Given the description of an element on the screen output the (x, y) to click on. 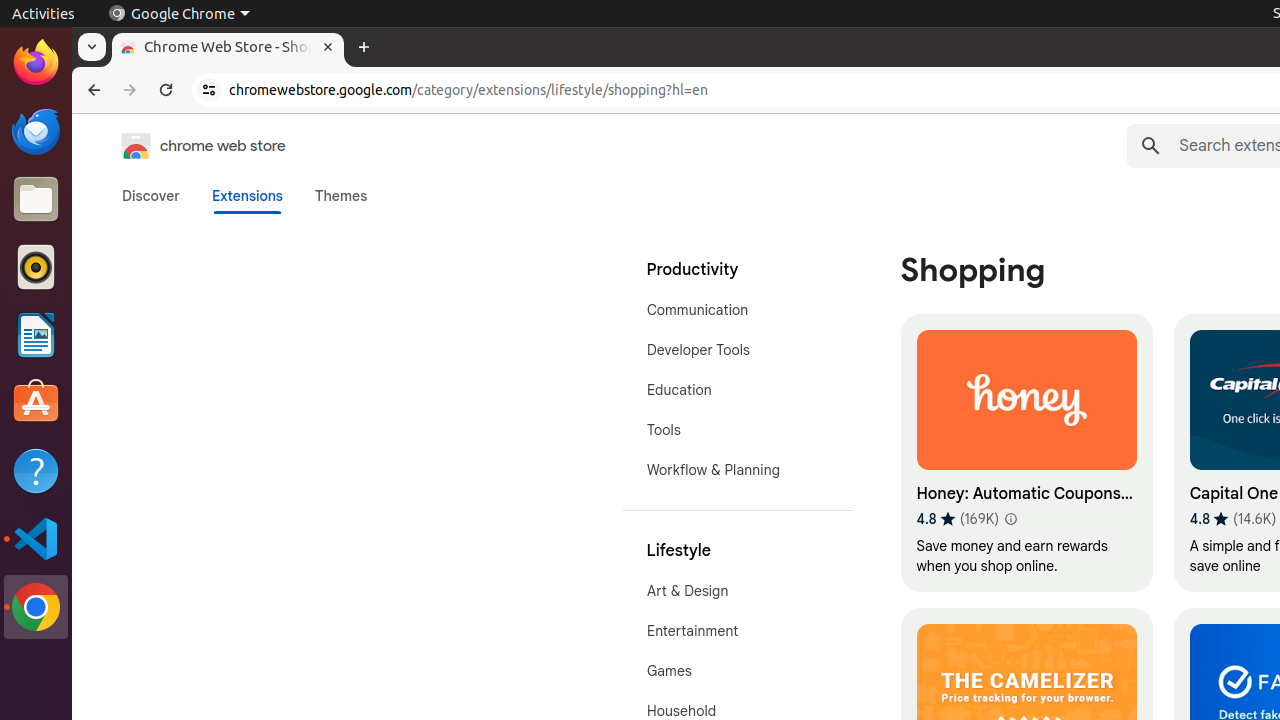
Entertainment Element type: menu-item (737, 631)
